Given the description of an element on the screen output the (x, y) to click on. 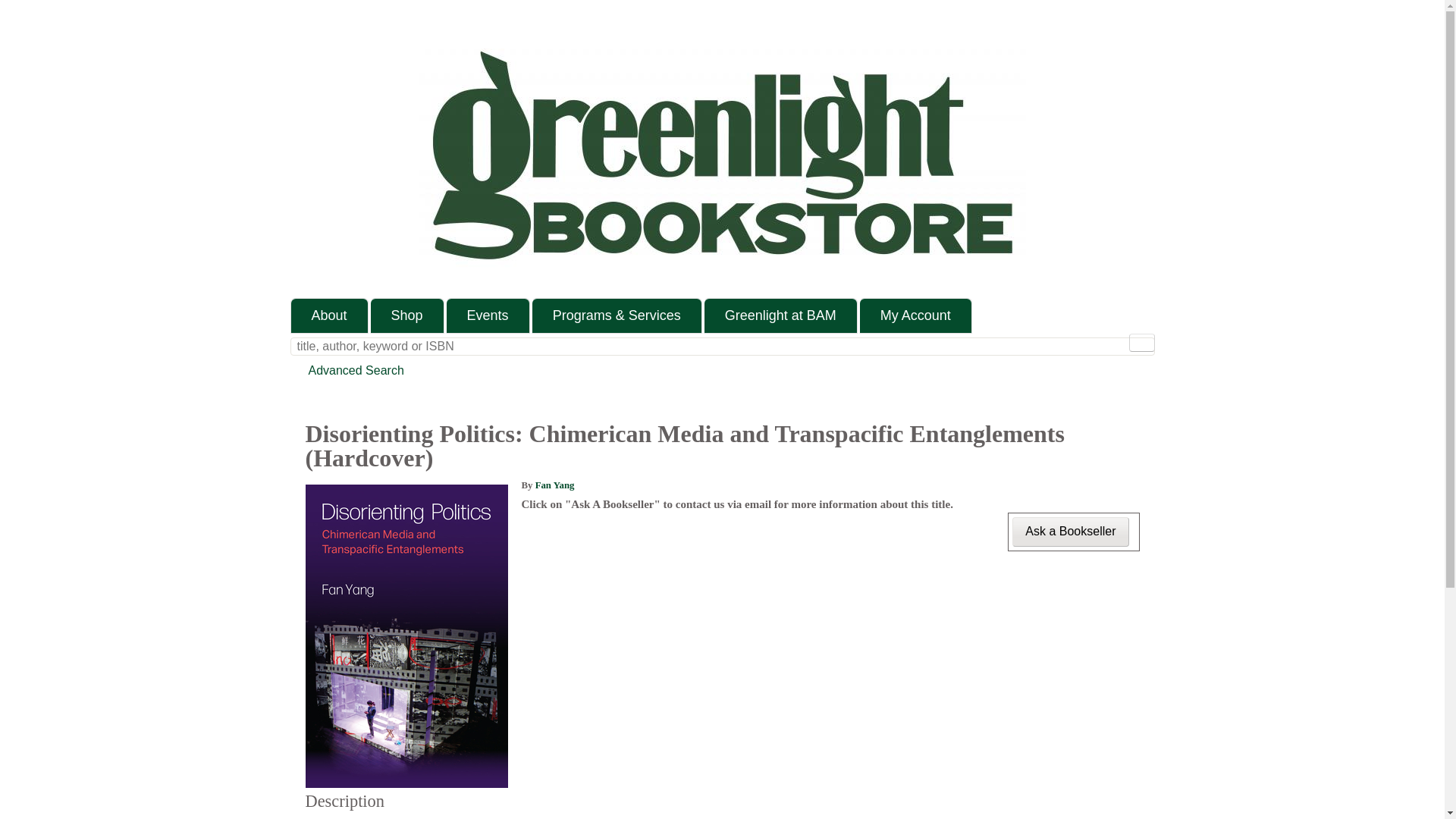
Shop (407, 315)
About (329, 315)
Search (1141, 342)
Ask a Bookseller (1069, 531)
